Given the description of an element on the screen output the (x, y) to click on. 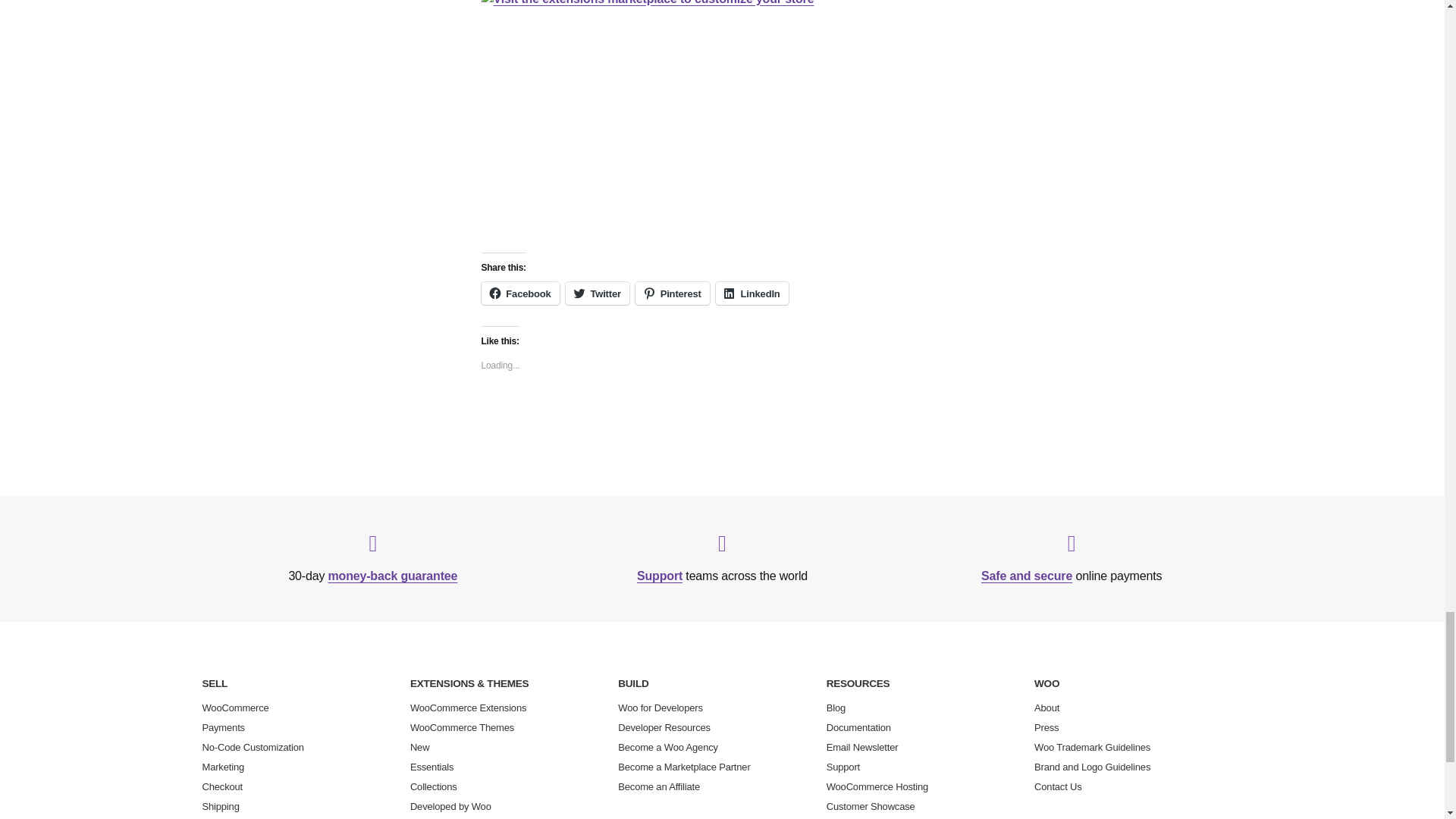
Click to share on Facebook (519, 292)
LinkedIn (752, 292)
WooCommerce Extensions (467, 707)
Twitter (597, 292)
Checkout (222, 786)
Support (659, 575)
Developed by Woo (451, 806)
Payments (223, 727)
Developer Resources (663, 727)
Essentials (432, 767)
